Given the description of an element on the screen output the (x, y) to click on. 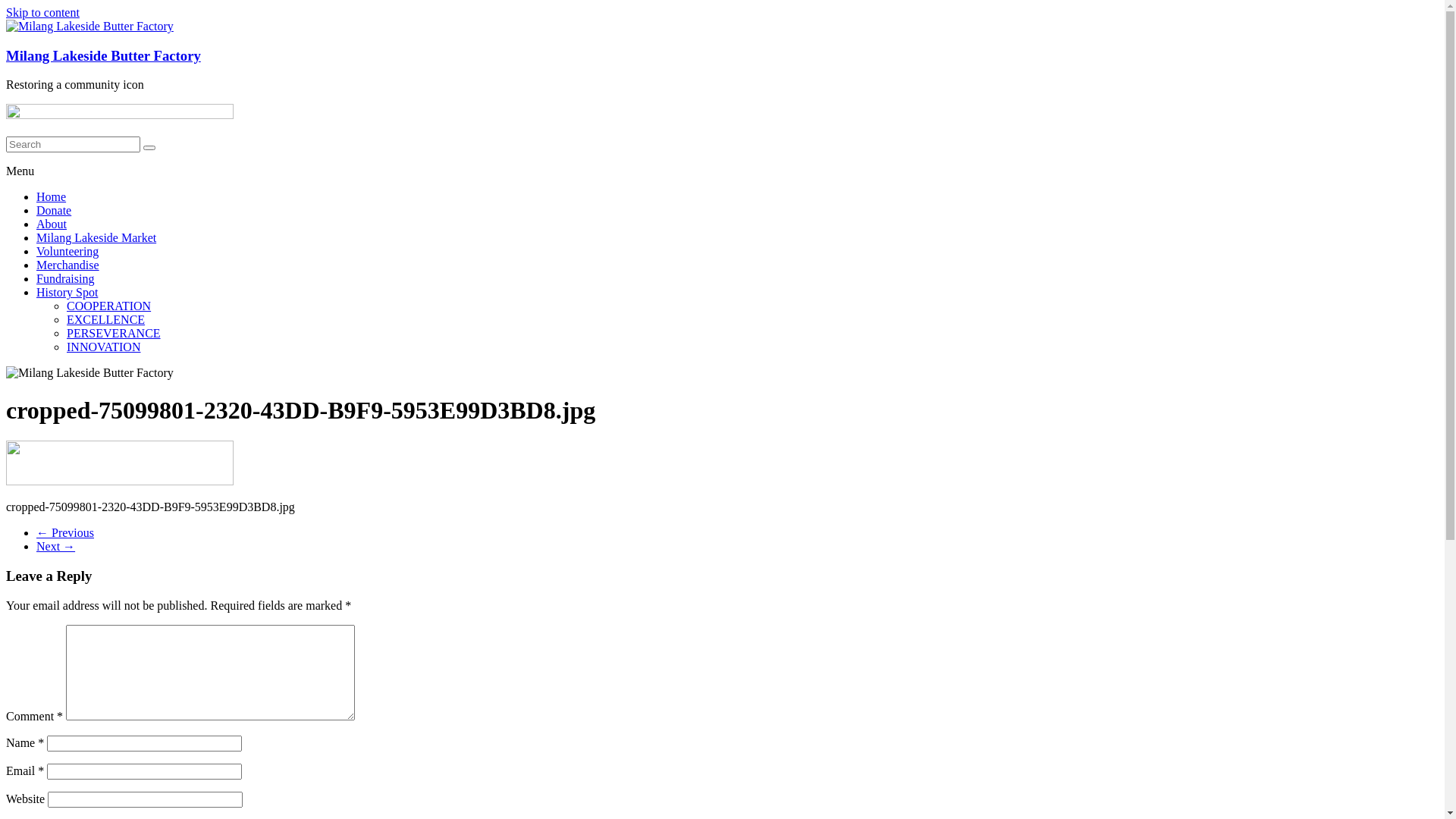
EXCELLENCE Element type: text (105, 319)
Fundraising Element type: text (65, 278)
Home Element type: text (50, 196)
History Spot Element type: text (66, 291)
Milang Lakeside Butter Factory Element type: text (103, 55)
COOPERATION Element type: text (108, 305)
Milang Lakeside Market Element type: text (96, 237)
INNOVATION Element type: text (103, 346)
About Element type: text (51, 223)
Volunteering Element type: text (67, 250)
Merchandise Element type: text (67, 264)
Skip to content Element type: text (42, 12)
Donate Element type: text (53, 209)
PERSEVERANCE Element type: text (113, 332)
